Given the description of an element on the screen output the (x, y) to click on. 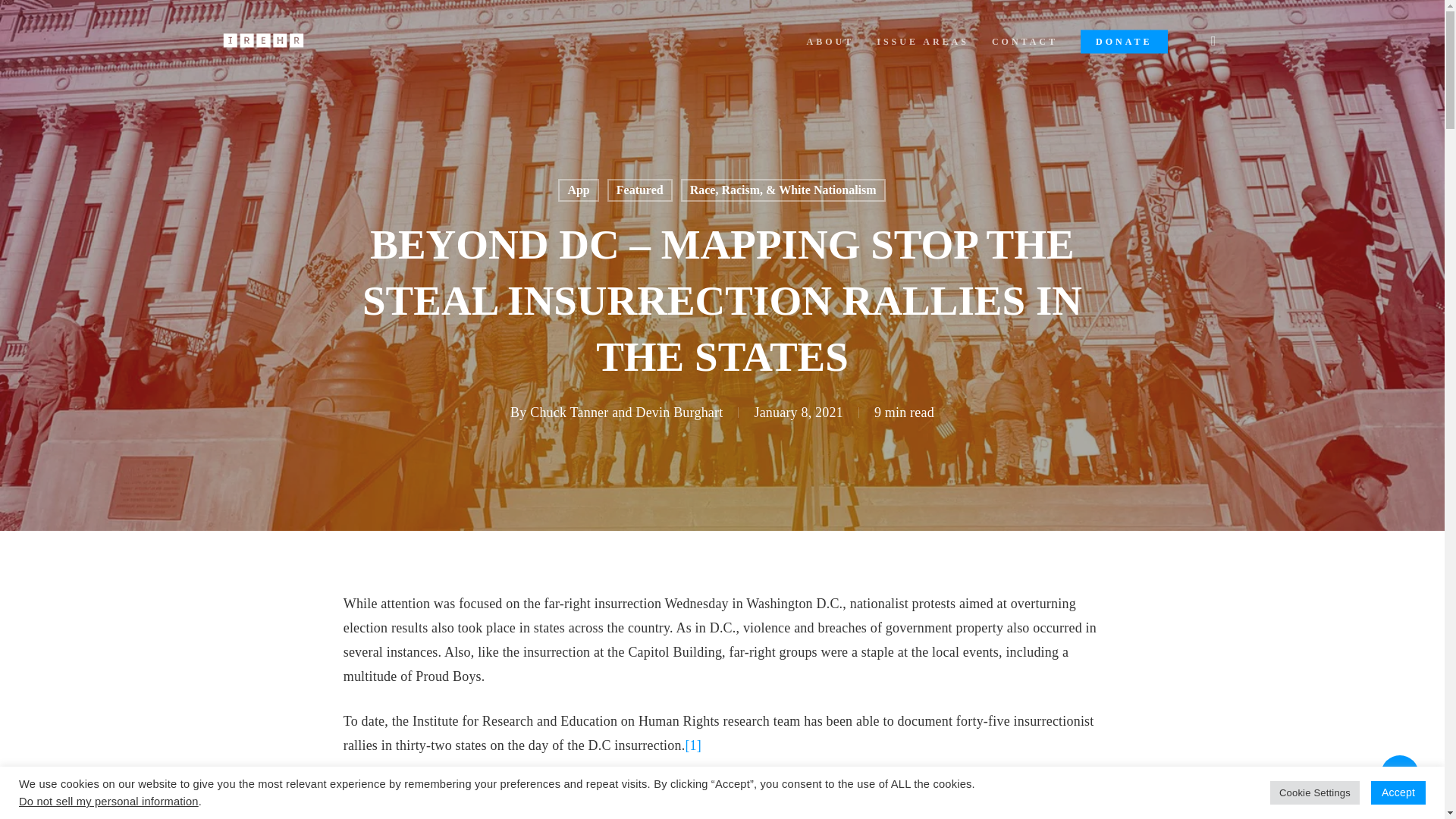
App (577, 190)
ISSUE AREAS (922, 41)
CONTACT (1024, 41)
Chuck Tanner and Devin Burghart (625, 412)
Posts by Chuck Tanner and Devin Burghart (625, 412)
search (1213, 40)
ABOUT (830, 41)
State Brad Raffensberger and his staff were evacuated (673, 789)
DONATE (1123, 41)
Featured (639, 190)
